Given the description of an element on the screen output the (x, y) to click on. 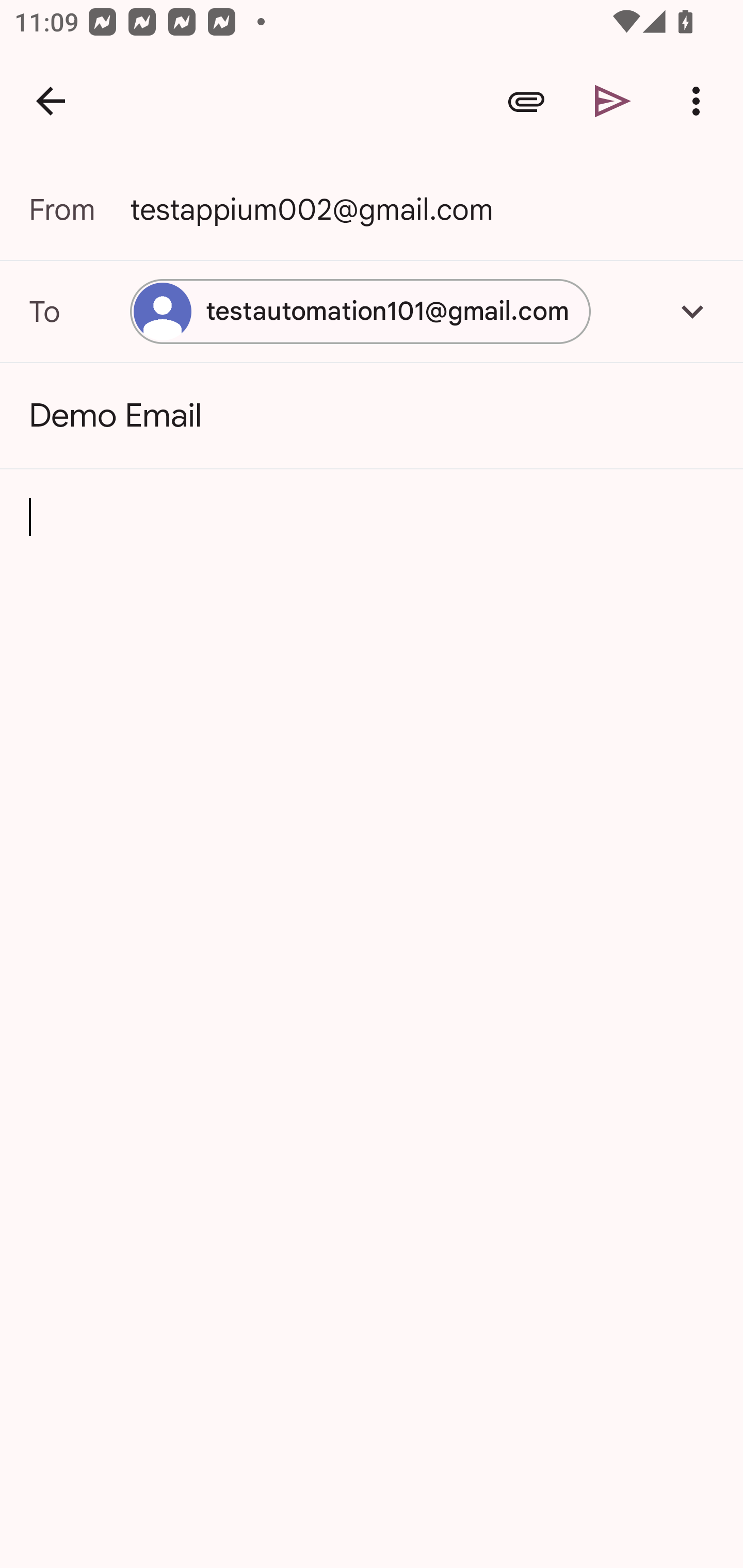
Navigate up (50, 101)
Attach file (525, 101)
Send (612, 101)
More options (699, 101)
From (79, 209)
Add Cc/Bcc (692, 311)
Demo Email (371, 415)
